Given the description of an element on the screen output the (x, y) to click on. 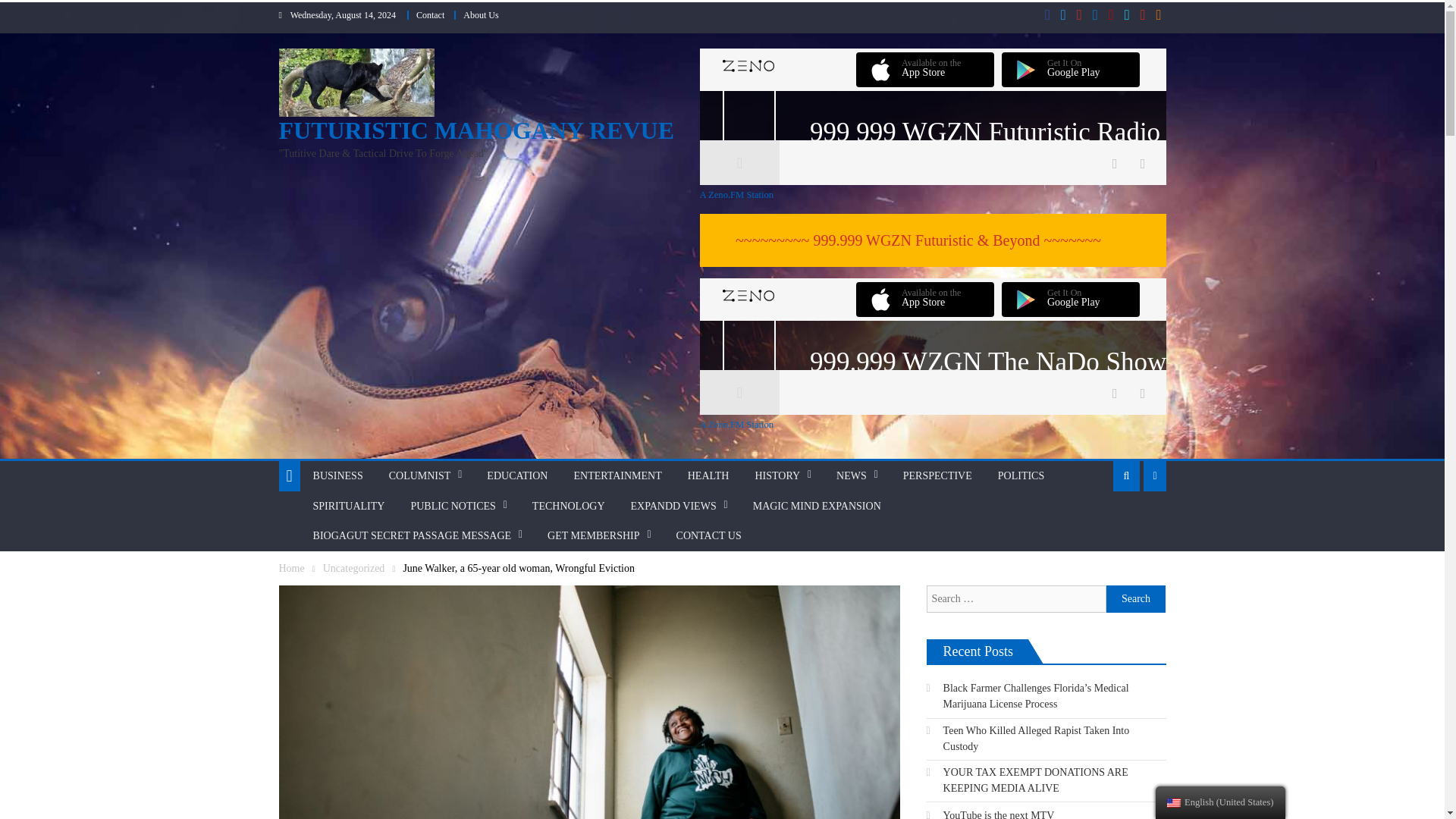
EDUCATION (517, 476)
A Zeno.FM Station (932, 424)
ENTERTAINMENT (617, 476)
NEWS (851, 476)
PERSPECTIVE (937, 476)
Search (1136, 598)
COLUMNIST (420, 476)
POLITICS (1021, 476)
BUSINESS (337, 476)
HEALTH (709, 476)
